Given the description of an element on the screen output the (x, y) to click on. 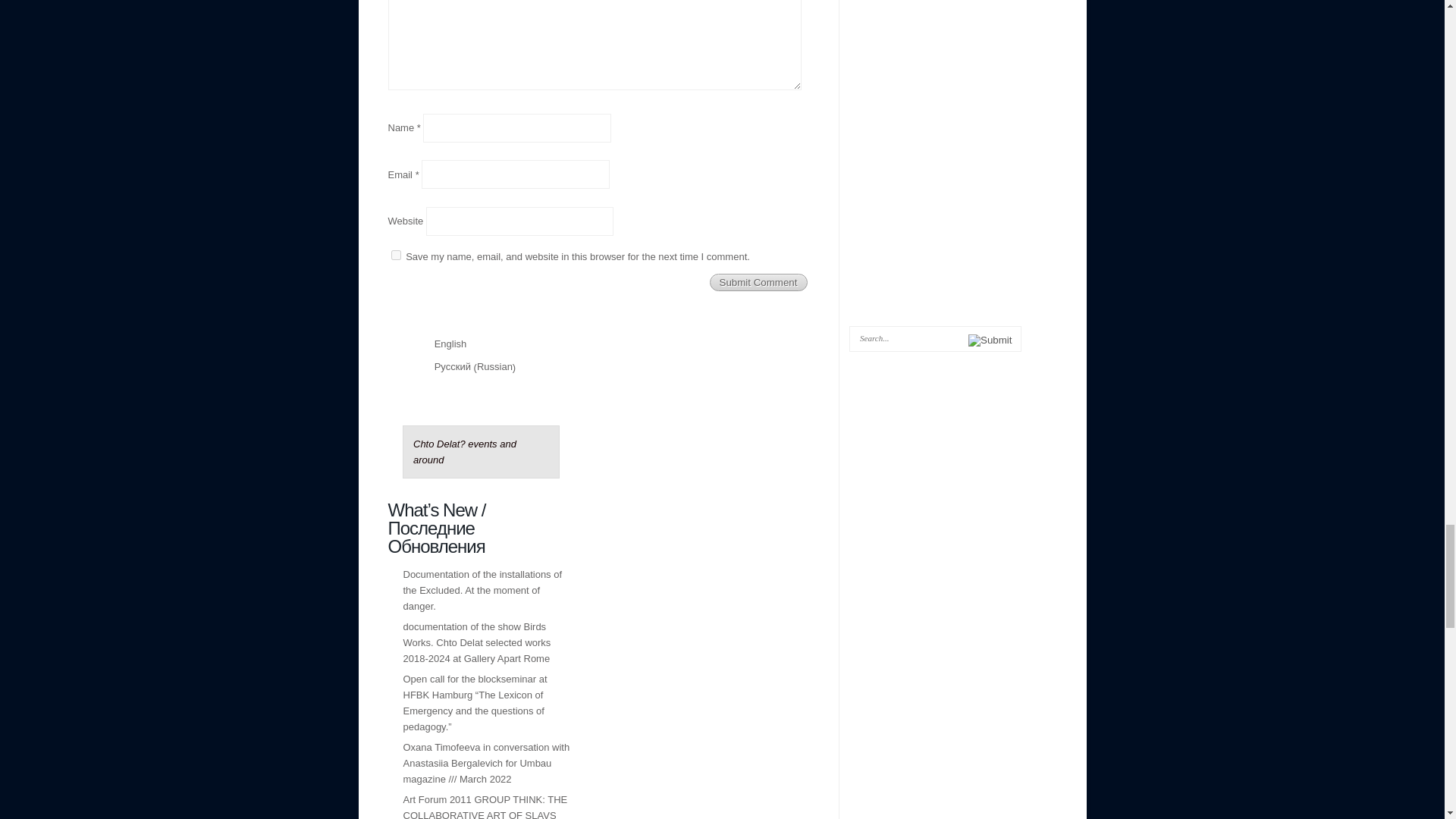
yes (396, 255)
Submit Comment (759, 282)
Submit Comment (759, 282)
English (441, 343)
Chto Delat? events and around (464, 452)
